Given the description of an element on the screen output the (x, y) to click on. 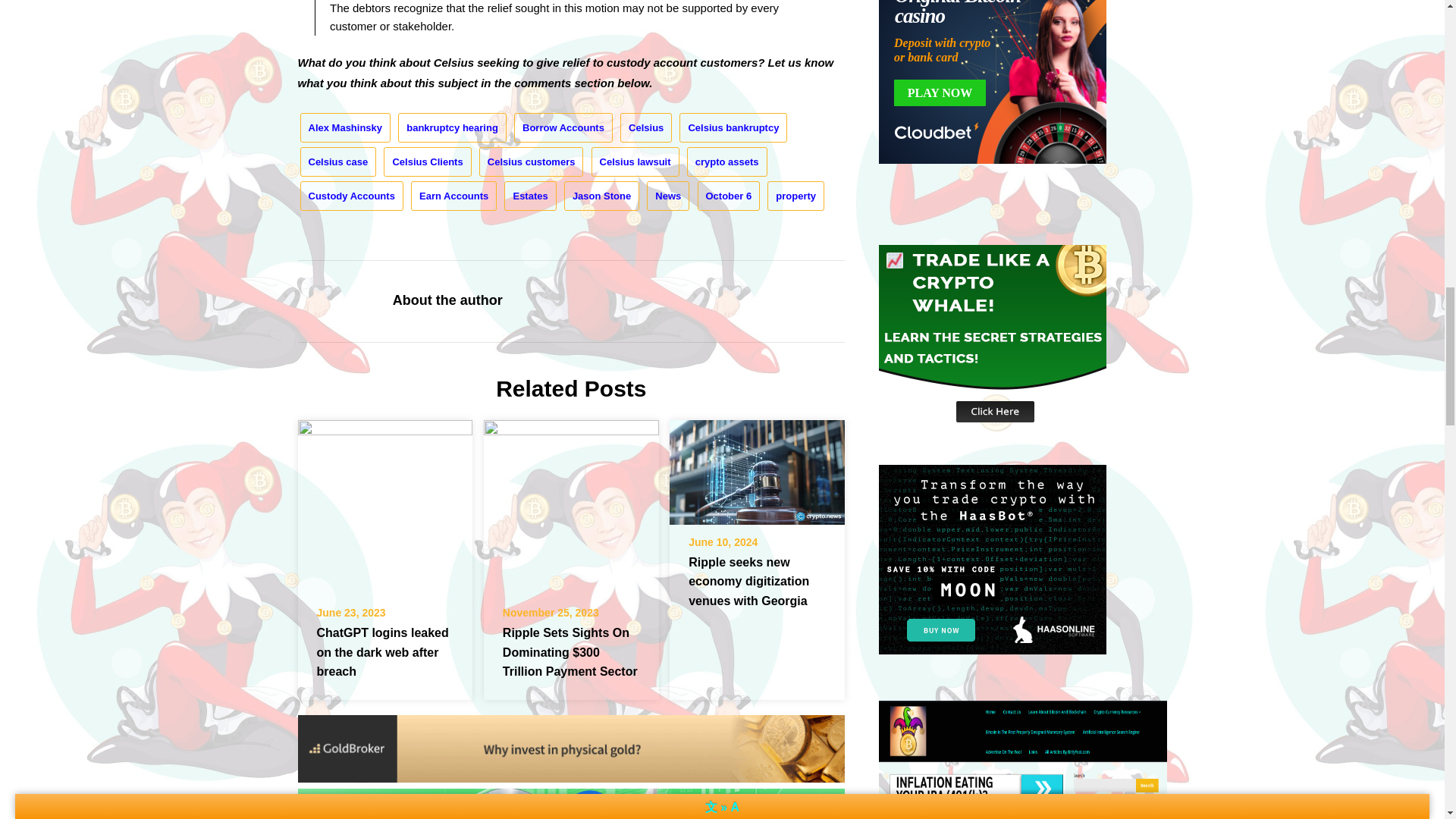
Celsius bankruptcy (733, 127)
Celsius (645, 127)
Celsius case (338, 161)
bankruptcy hearing (451, 127)
Borrow Accounts (562, 127)
Automated trading with HaasBot Crypto Trading Bots (992, 558)
ChatGPT logins leaked on the dark web after breach (384, 502)
Alex Mashinsky (345, 127)
Ripple seeks new economy digitization venues with Georgia (756, 467)
Cryptoultimatum - Trade Like a Crypto Whale (992, 339)
